Given the description of an element on the screen output the (x, y) to click on. 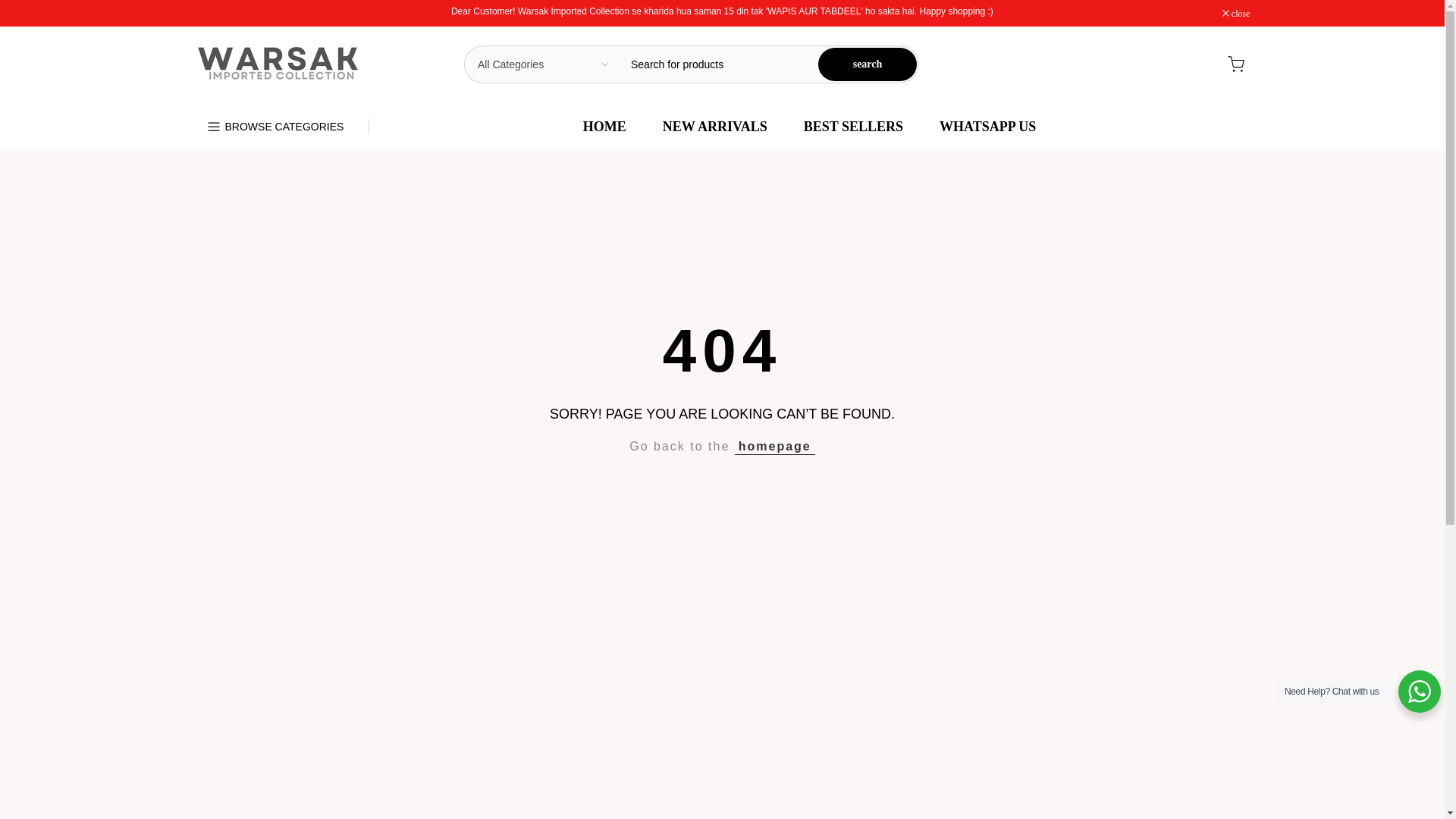
close (1236, 13)
search (867, 64)
Skip to content (10, 7)
